Given the description of an element on the screen output the (x, y) to click on. 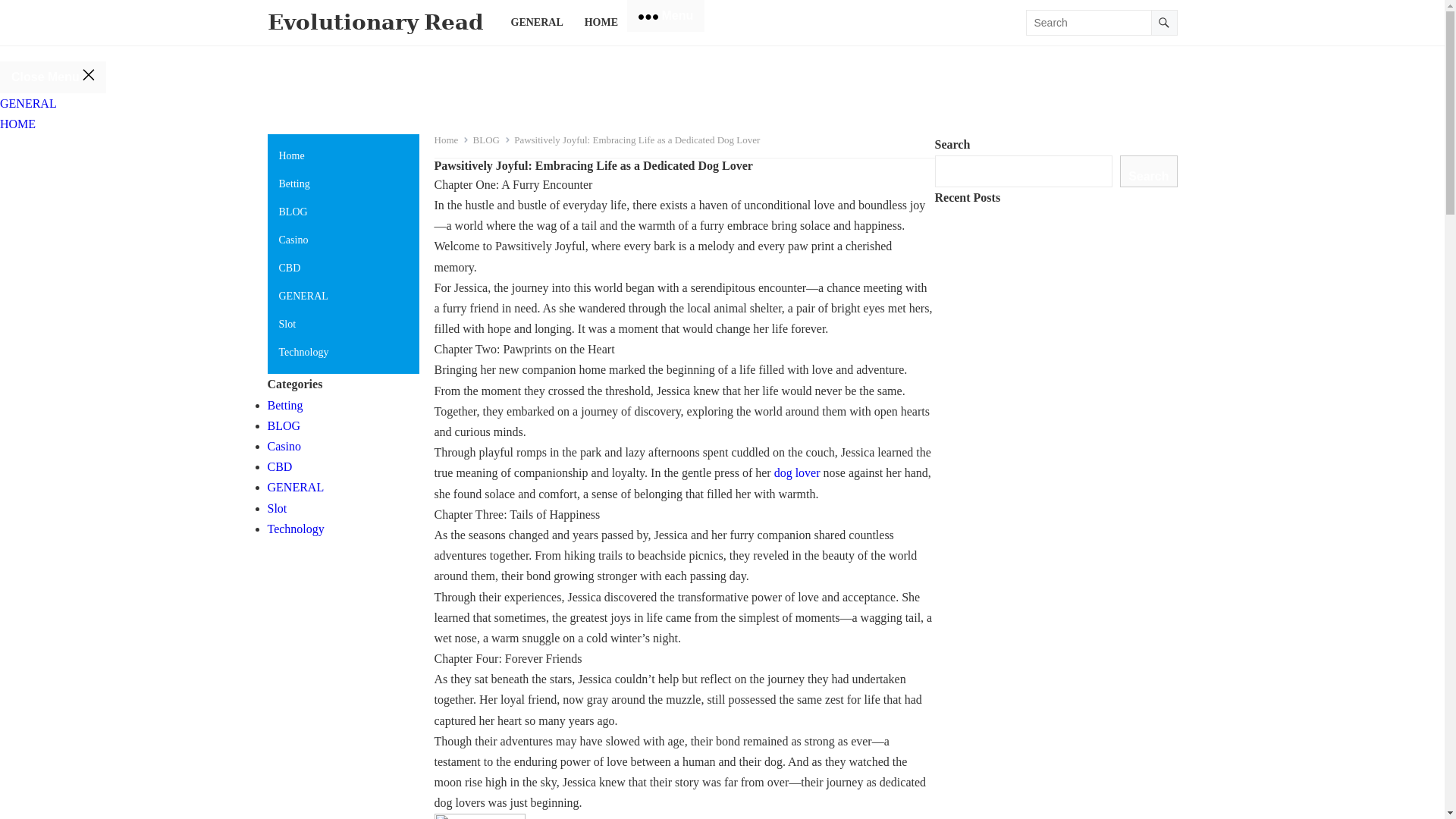
Menu (665, 15)
HOME (601, 22)
GENERAL (28, 103)
Close Menu (53, 77)
GENERAL (537, 22)
Home (450, 139)
dog lover (797, 472)
BLOG (492, 139)
HOME (17, 123)
